Given the description of an element on the screen output the (x, y) to click on. 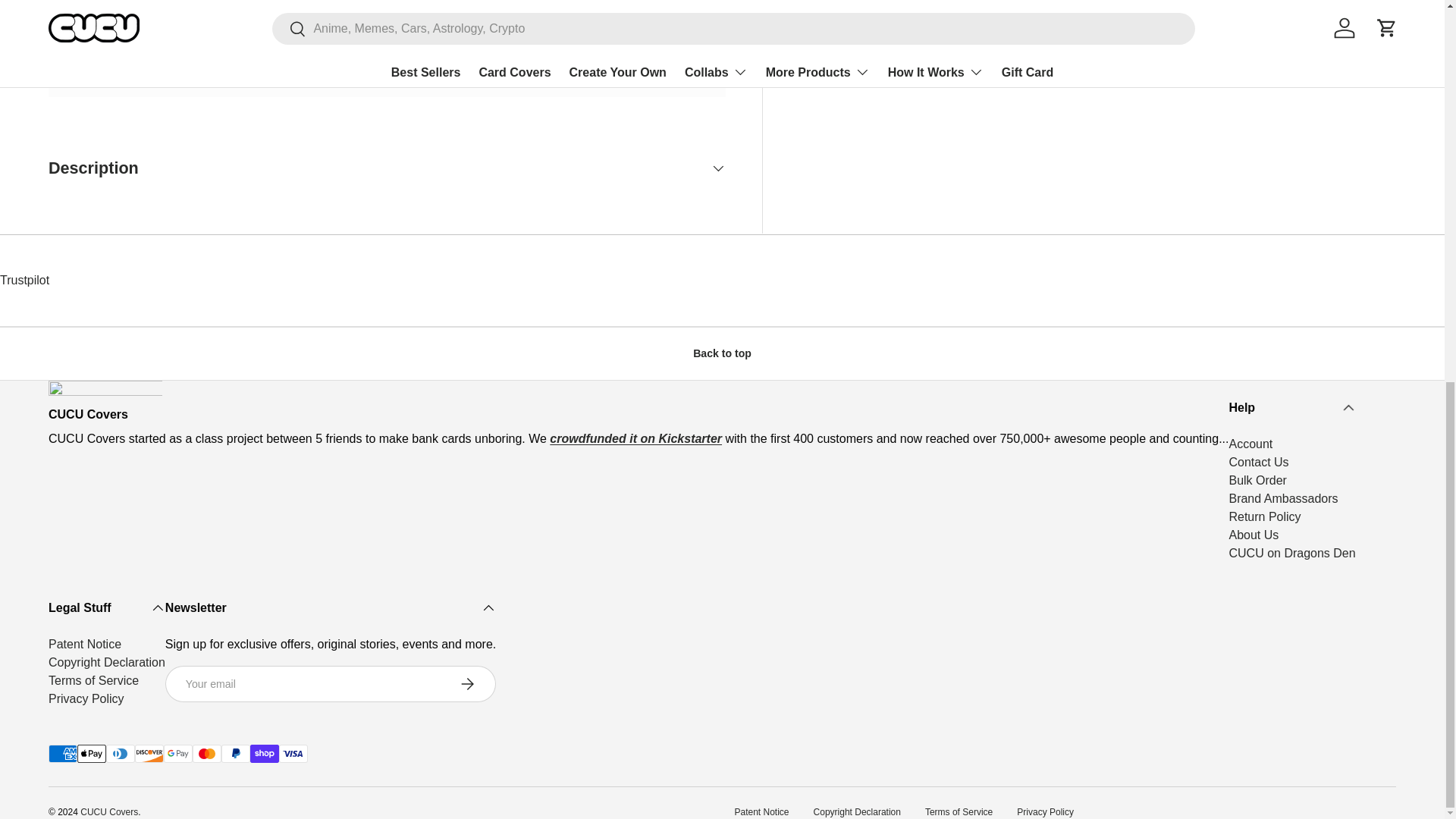
American Express (62, 753)
